Given the description of an element on the screen output the (x, y) to click on. 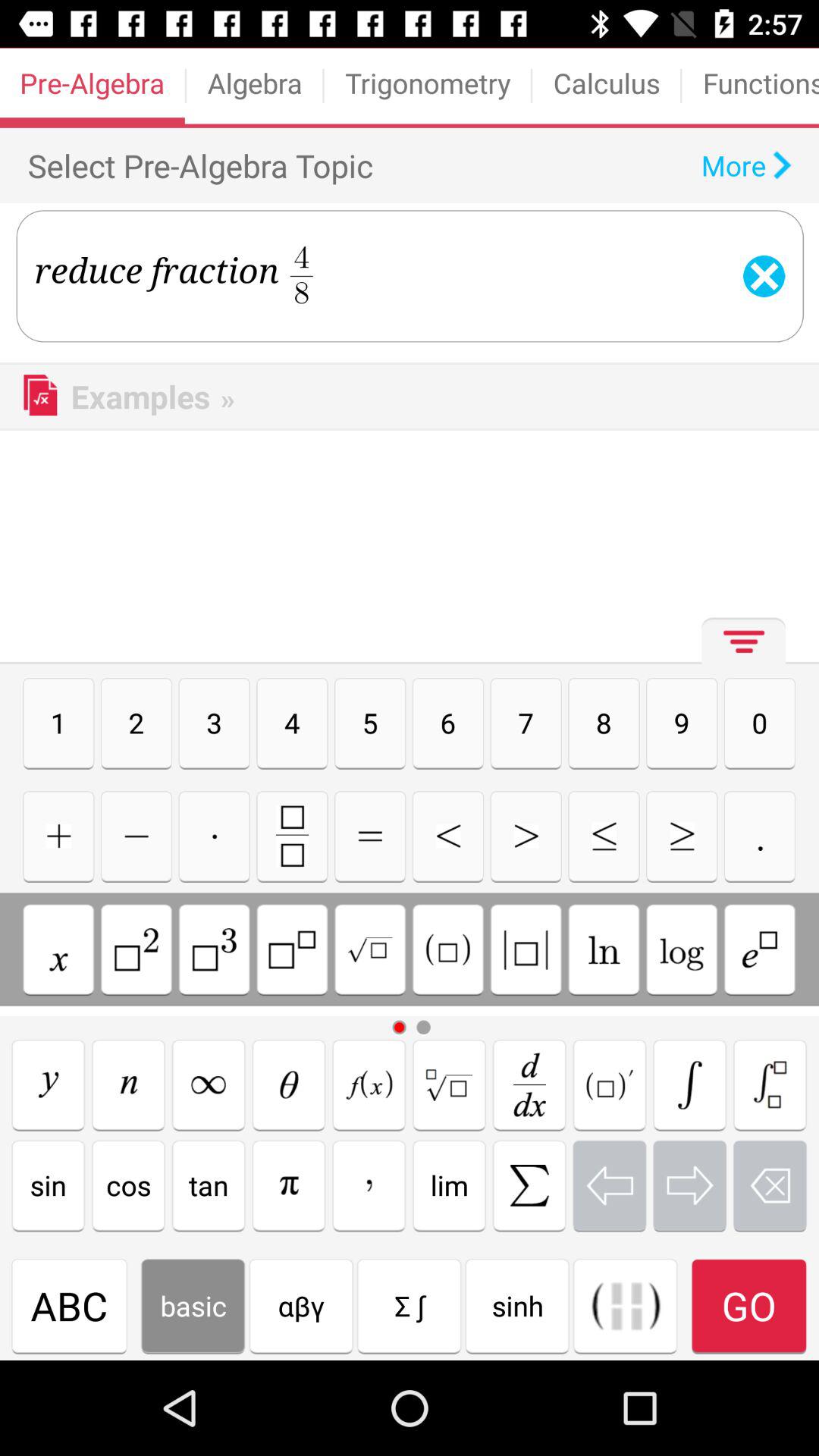
select symbol (58, 949)
